Given the description of an element on the screen output the (x, y) to click on. 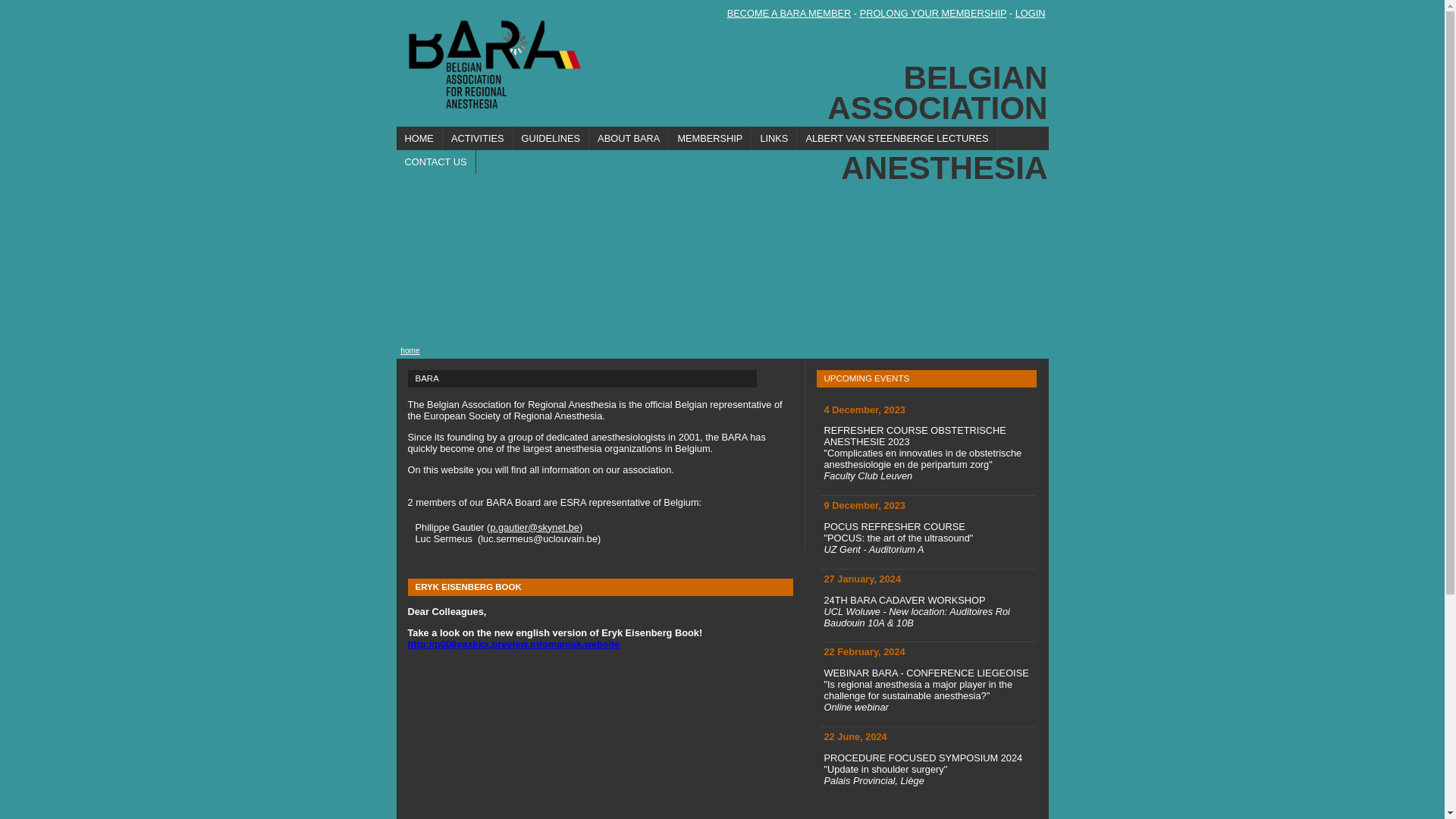
PROLONG YOUR MEMBERSHIP Element type: text (933, 12)
ABOUT BARA Element type: text (628, 138)
CONTACT US Element type: text (435, 161)
home Element type: text (410, 350)
http://p006yaxkkx.preview.infomaniak.website Element type: text (513, 643)
LINKS Element type: text (774, 138)
p.gautier@skynet.be Element type: text (534, 527)
MEMBERSHIP Element type: text (709, 138)
Please Wait... Element type: hover (721, 44)
BECOME A BARA MEMBER Element type: text (789, 12)
ALBERT VAN STEENBERGE LECTURES Element type: text (897, 138)
HOME Element type: text (418, 138)
GUIDELINES Element type: text (551, 138)
ACTIVITIES Element type: text (477, 138)
LOGIN Element type: text (1030, 12)
